Given the description of an element on the screen output the (x, y) to click on. 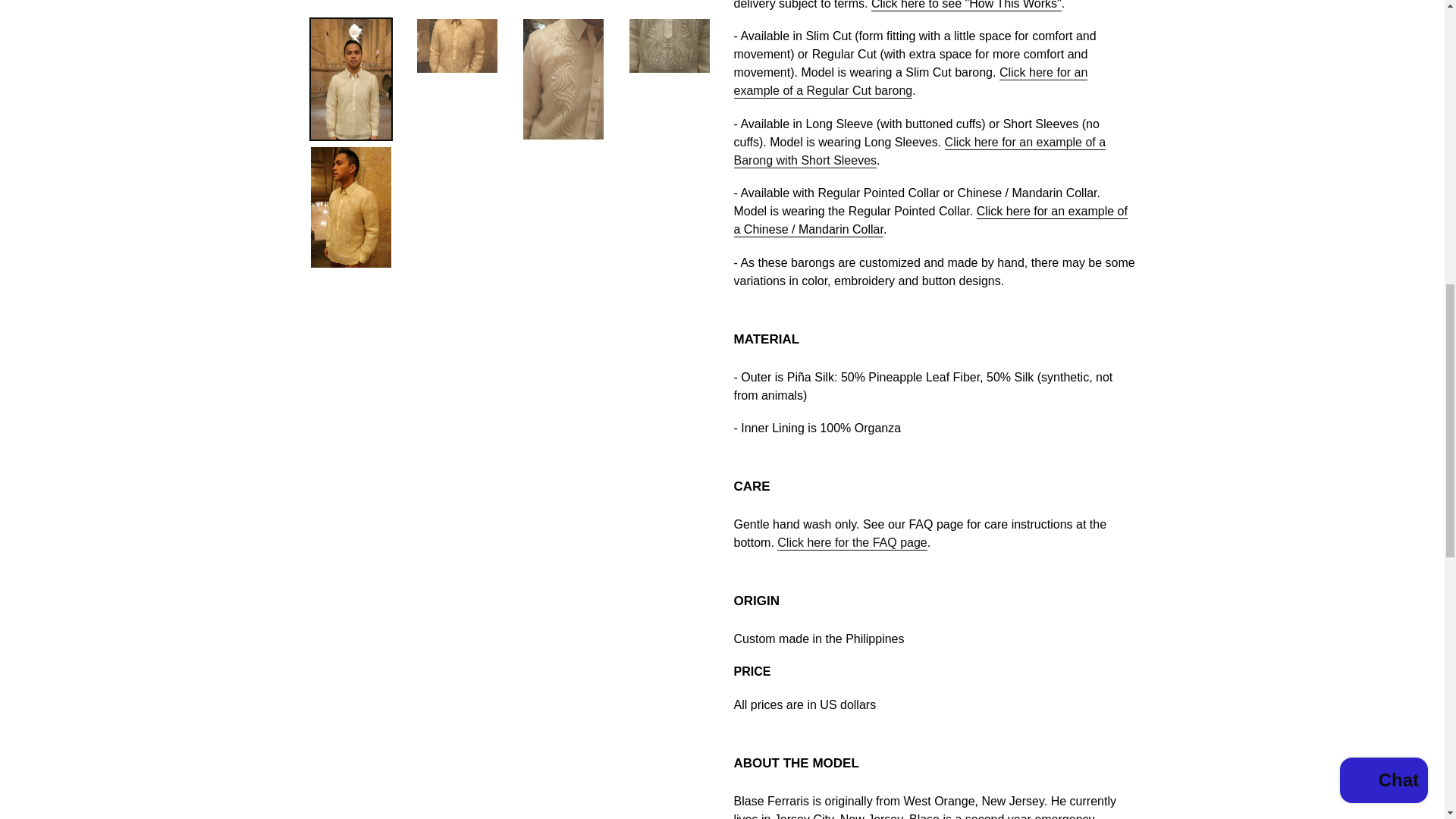
Example of a Regular Cut Men's Fit Barong (910, 82)
How This Works (965, 5)
Click here for an example of a Barong with Short Sleeves (919, 151)
Click here for the FAQ page (851, 543)
Click here to see "How This Works" (965, 5)
FAQ's Page (851, 543)
Example of a Men's Fit Barong with Short Sleeves (919, 151)
Click here for an example of a Regular Cut barong (910, 82)
